Given the description of an element on the screen output the (x, y) to click on. 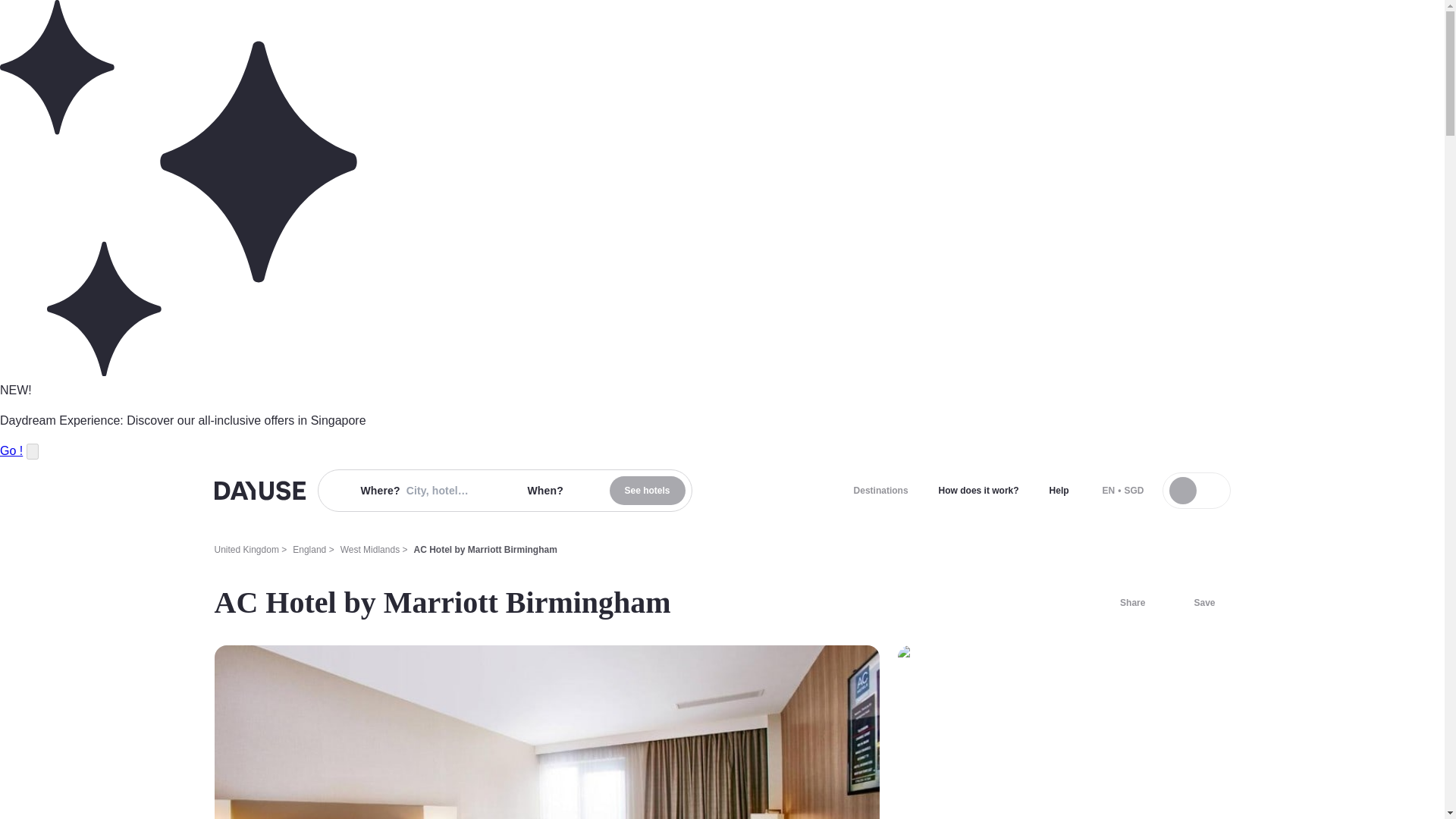
Dayuse (259, 490)
England (309, 549)
West Midlands (369, 549)
Save (1195, 602)
See hotels (647, 490)
United Kingdom (246, 549)
Help (1058, 490)
Destinations (880, 490)
How does it work? (978, 490)
Share (1123, 602)
